Given the description of an element on the screen output the (x, y) to click on. 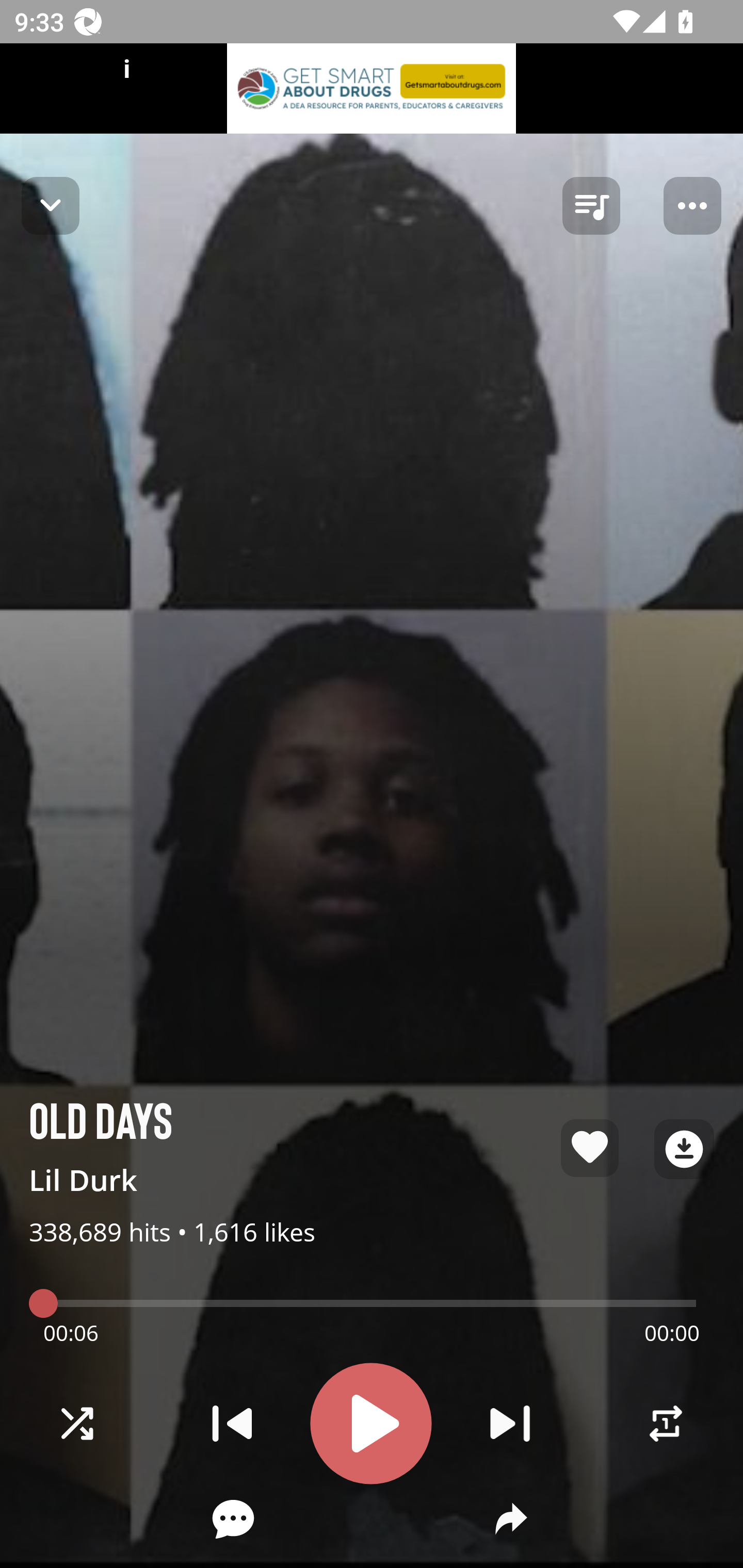
Navigate up (50, 205)
queue (590, 206)
Player options (692, 206)
